Given the description of an element on the screen output the (x, y) to click on. 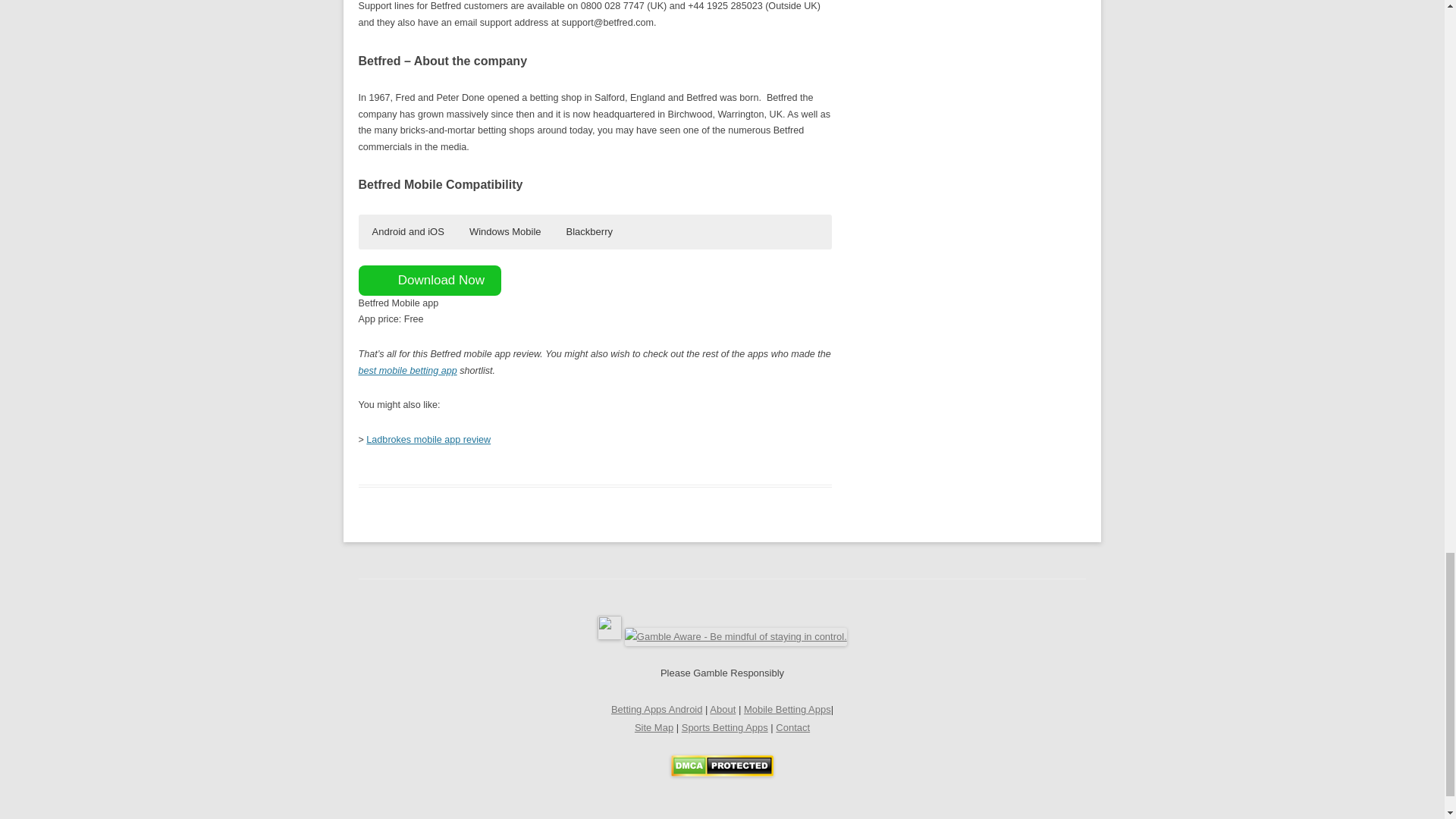
Site Map (653, 727)
DMCA.com Protection Status (722, 772)
Sports Betting Apps (724, 727)
best mobile betting app (407, 370)
Ladbrokes mobile app review (428, 439)
Download Now (429, 280)
About (722, 708)
Contact (792, 727)
Betting Apps Android (657, 708)
Mobile Betting Apps (787, 708)
